Given the description of an element on the screen output the (x, y) to click on. 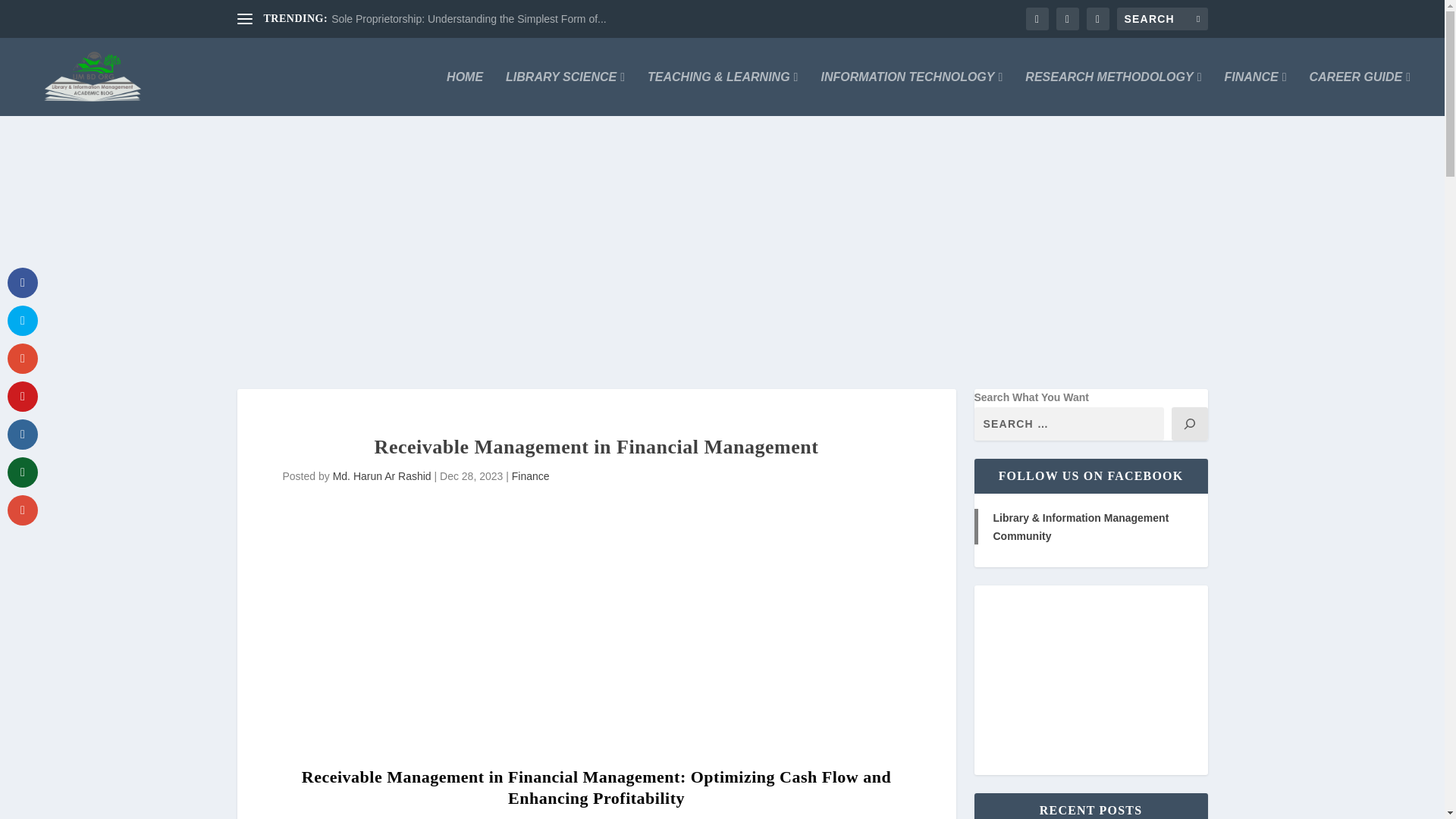
Search for: (1161, 18)
Sole Proprietorship: Understanding the Simplest Form of... (469, 19)
CAREER GUIDE (1359, 94)
Posts by Md. Harun Ar Rashid (381, 476)
FINANCE (1255, 94)
LIBRARY SCIENCE (564, 94)
RESEARCH METHODOLOGY (1113, 94)
INFORMATION TECHNOLOGY (912, 94)
